Given the description of an element on the screen output the (x, y) to click on. 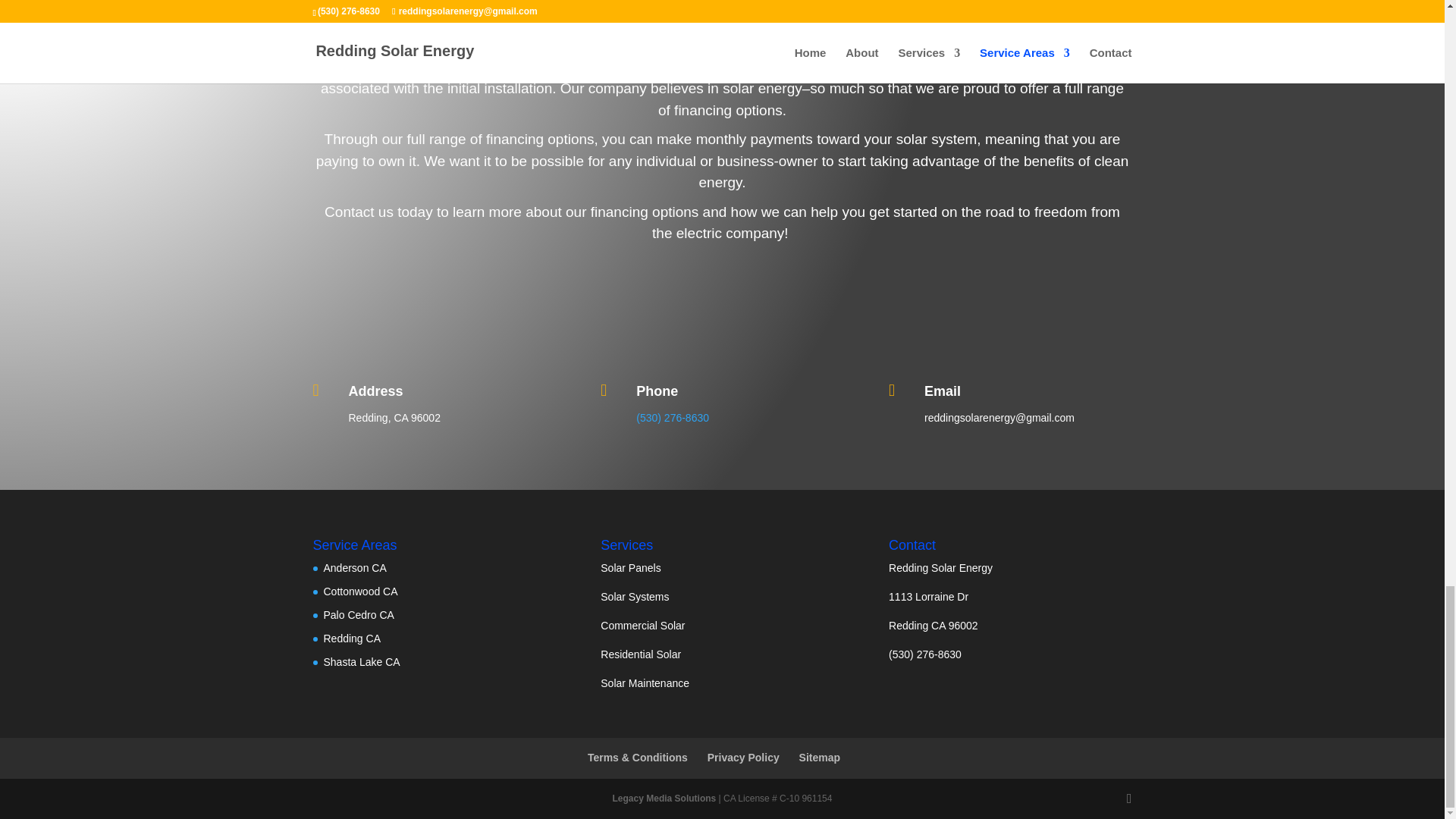
Privacy Policy (742, 757)
Solar Panels (630, 567)
Residential Solar (640, 654)
Cottonwood CA (360, 591)
Commercial Solar (641, 625)
Solar Maintenance (643, 683)
Solar Systems (633, 596)
Anderson CA (354, 567)
Palo Cedro CA (358, 614)
Redding CA (351, 638)
